Given the description of an element on the screen output the (x, y) to click on. 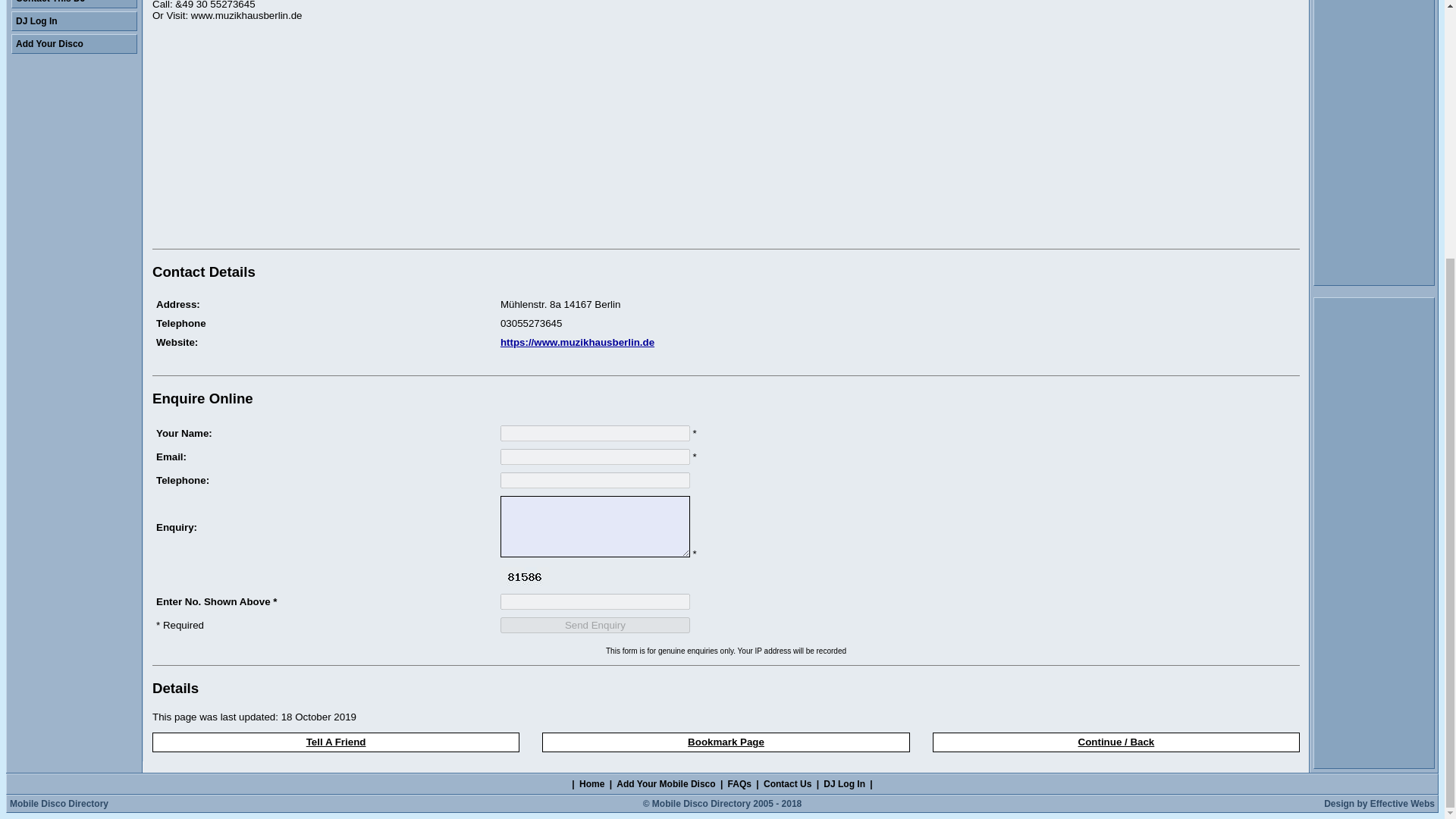
Update your entry (73, 21)
Add Your Disco to the Directory for free (73, 44)
FAQs (739, 784)
Advertisement (279, 137)
Add Your Disco (73, 44)
Bookmark Page (724, 742)
DJ Log In (844, 784)
Contact Us (787, 784)
Mobile Disco Directory (58, 803)
Home (591, 784)
Contact Muzikhaus Berlin Musical Instruments Shop (73, 4)
Send Enquiry (595, 625)
Add Your Mobile Disco (665, 784)
Contact This DJ (73, 4)
Tell A Friend (335, 742)
